Given the description of an element on the screen output the (x, y) to click on. 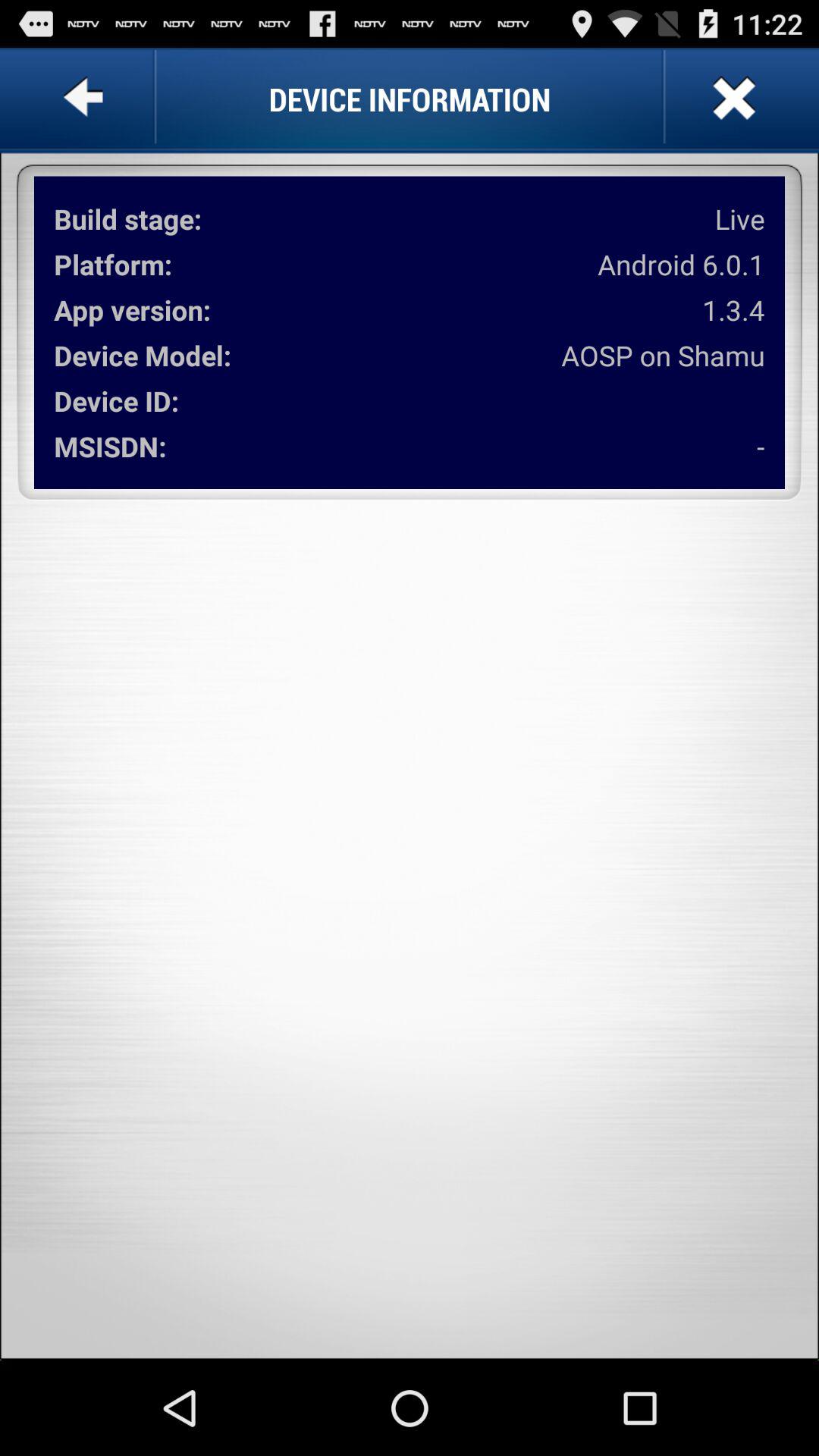
go back (86, 99)
